Given the description of an element on the screen output the (x, y) to click on. 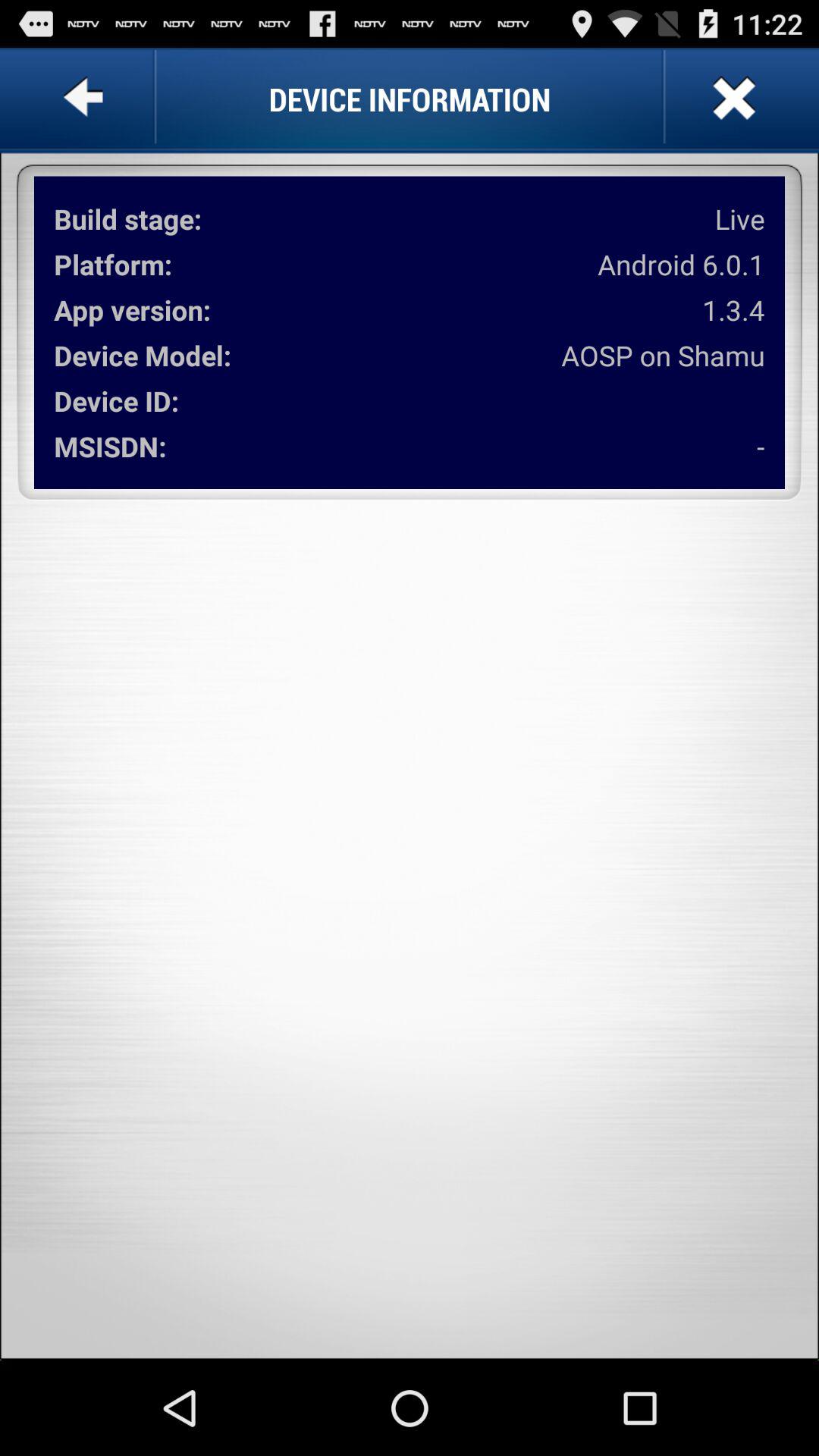
go back (86, 99)
